Given the description of an element on the screen output the (x, y) to click on. 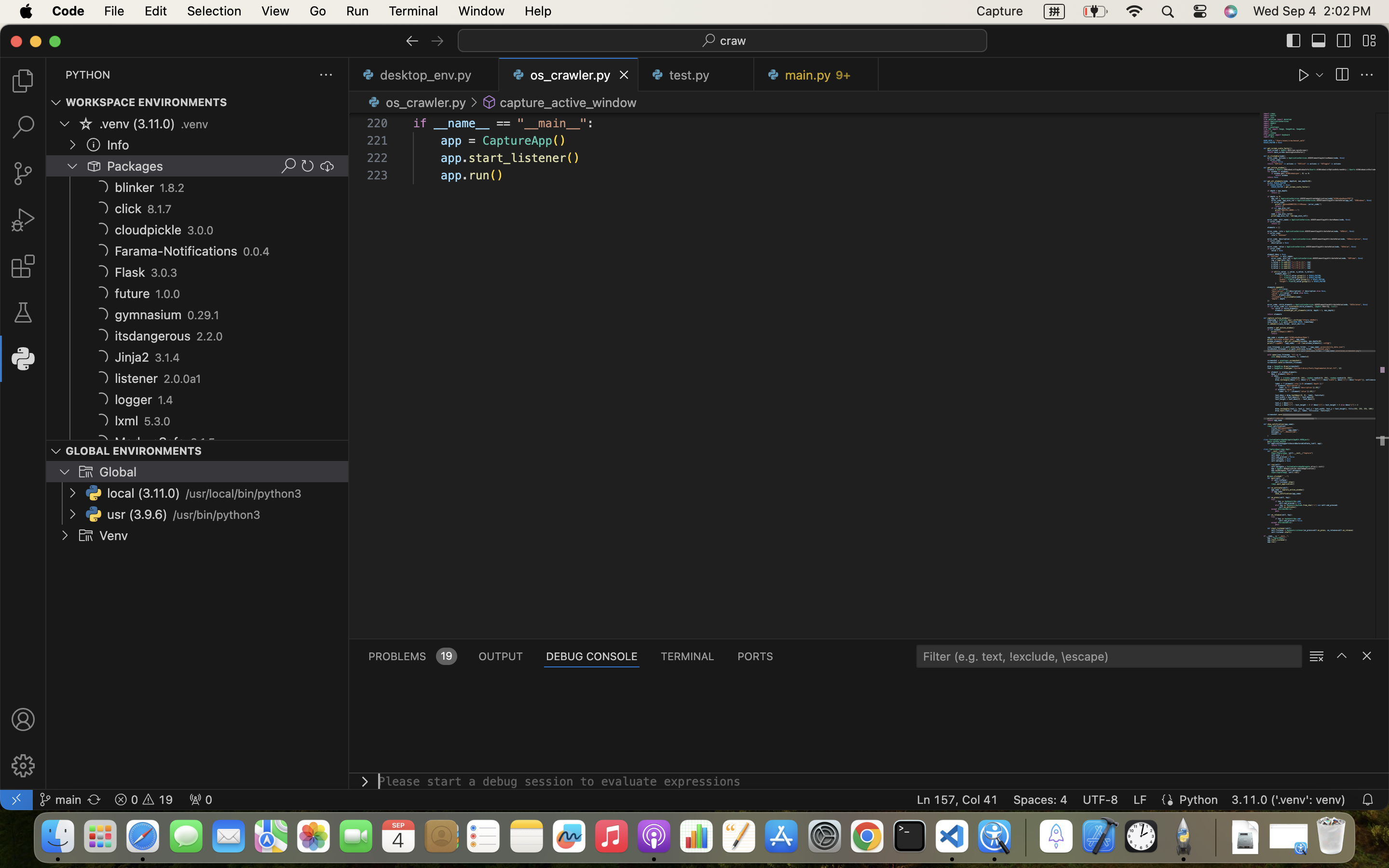
lxml Element type: AXStaticText (126, 420)
.venv (3.11.0) Element type: AXStaticText (137, 123)
 Element type: AXStaticText (93, 165)
capture_active_window Element type: AXGroup (567, 101)
0.0.4 Element type: AXStaticText (256, 251)
